Given the description of an element on the screen output the (x, y) to click on. 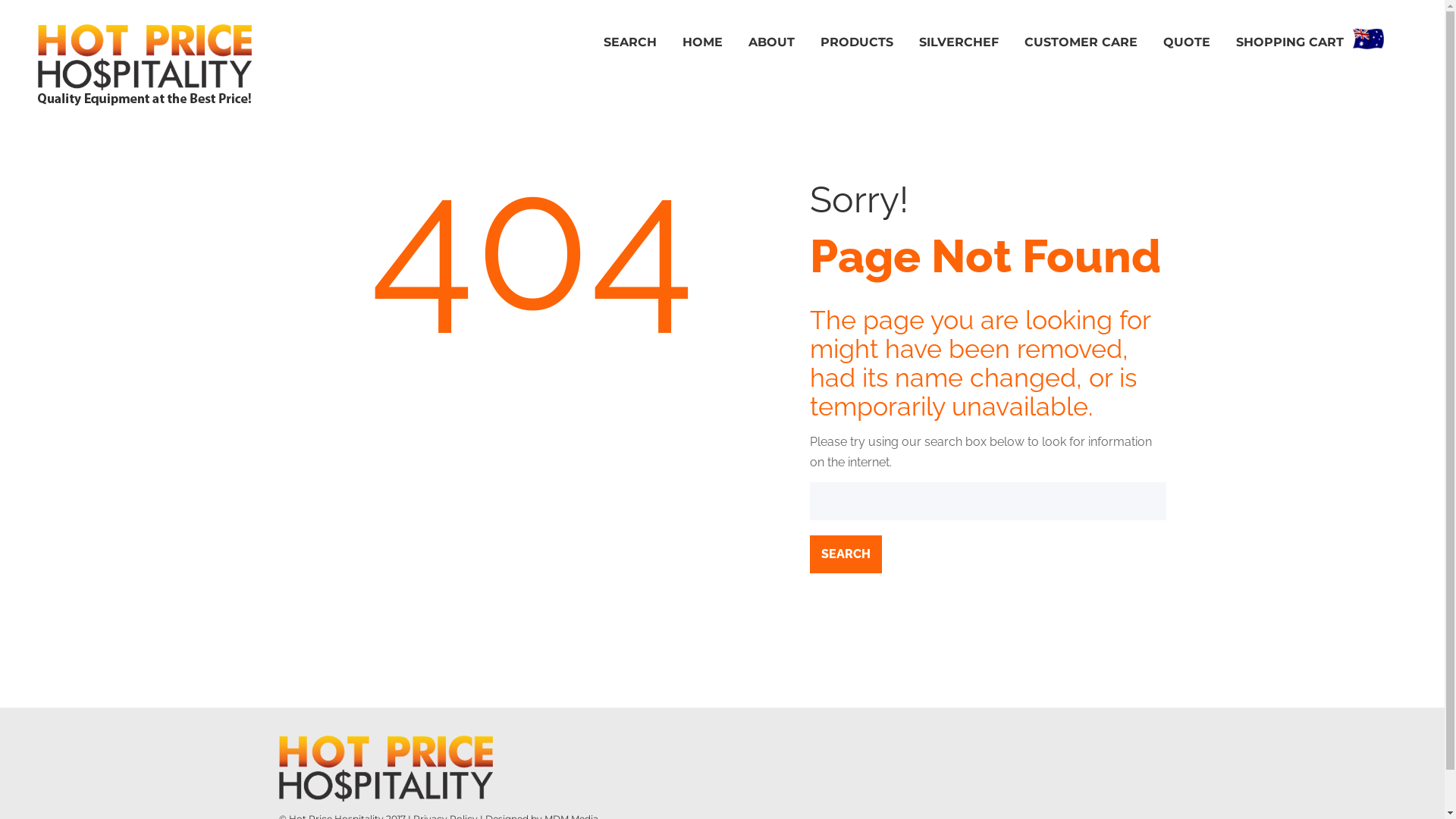
QUOTE Element type: text (1186, 42)
ABOUT Element type: text (771, 42)
SHOPPING CART Element type: text (1289, 42)
CUSTOMER CARE Element type: text (1080, 42)
SEARCH Element type: text (629, 42)
SILVERCHEF Element type: text (958, 42)
Quality Catering & Hospitality Equipment at the Best Price! Element type: hover (151, 64)
search Element type: text (845, 554)
HOME Element type: text (702, 42)
PRODUCTS Element type: text (856, 42)
